Given the description of an element on the screen output the (x, y) to click on. 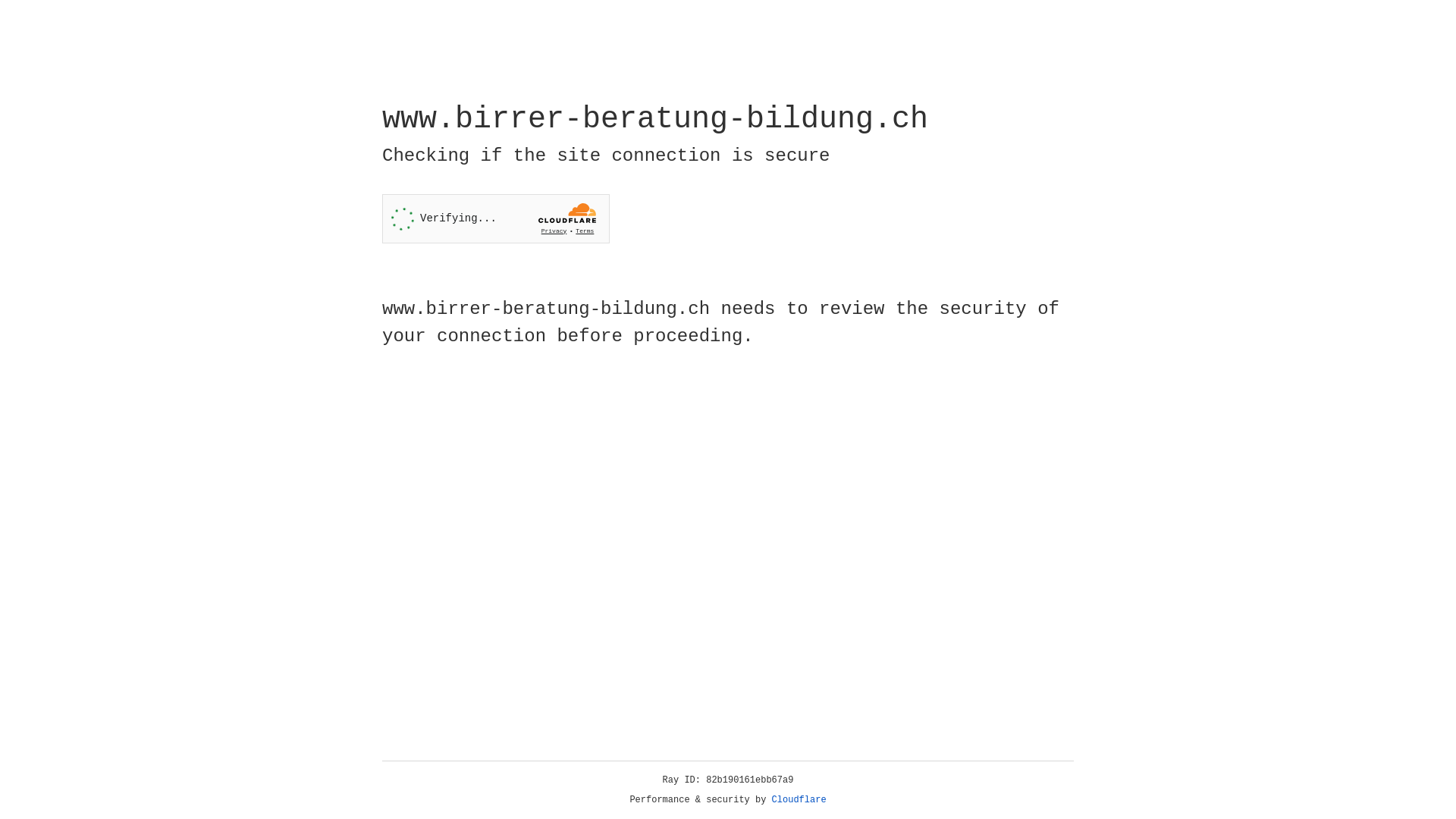
Cloudflare Element type: text (798, 799)
Widget containing a Cloudflare security challenge Element type: hover (495, 218)
